Given the description of an element on the screen output the (x, y) to click on. 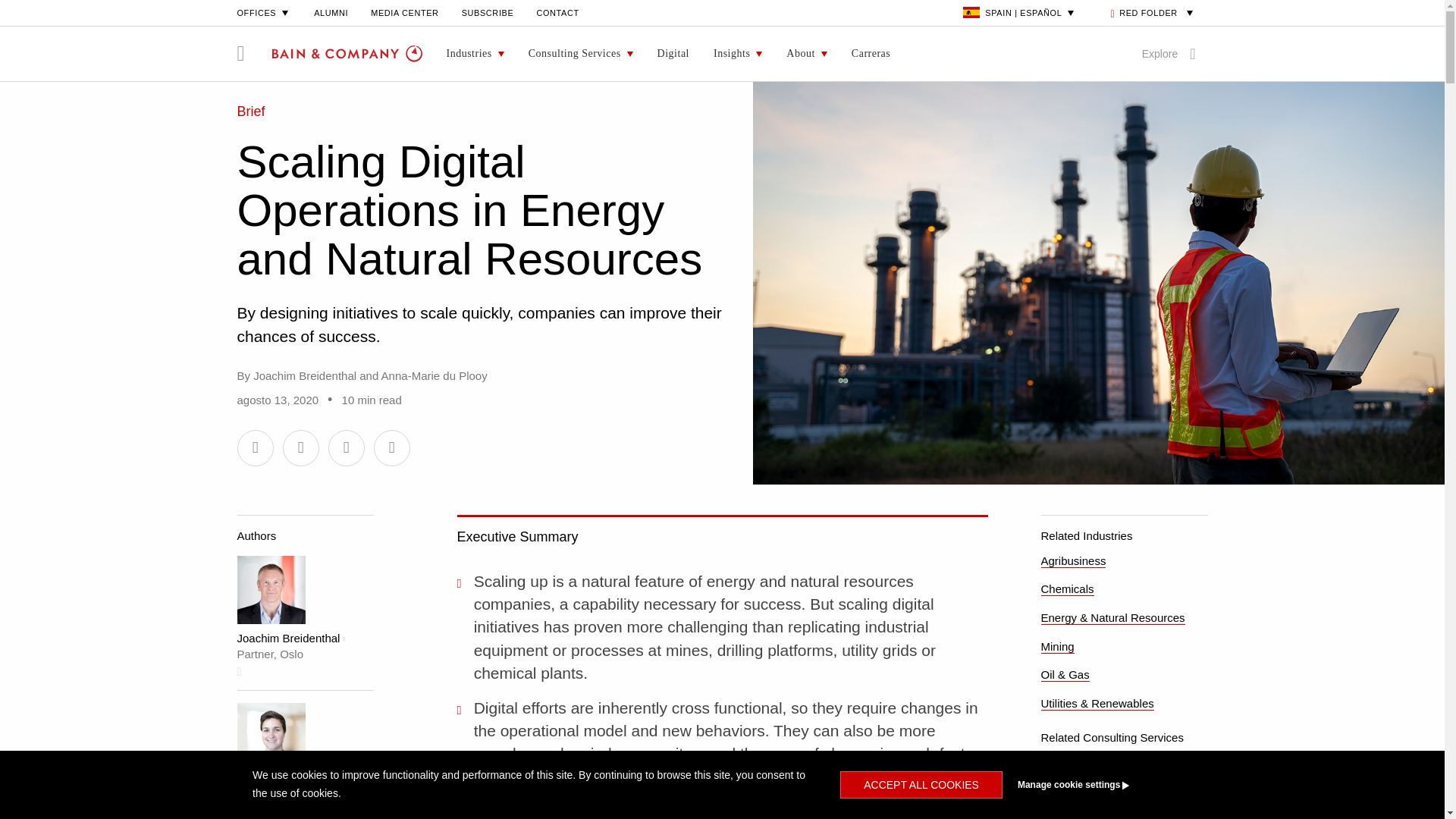
OFFICES (263, 12)
Manage cookie settings (1101, 784)
ACCEPT ALL COOKIES (921, 784)
